Given the description of an element on the screen output the (x, y) to click on. 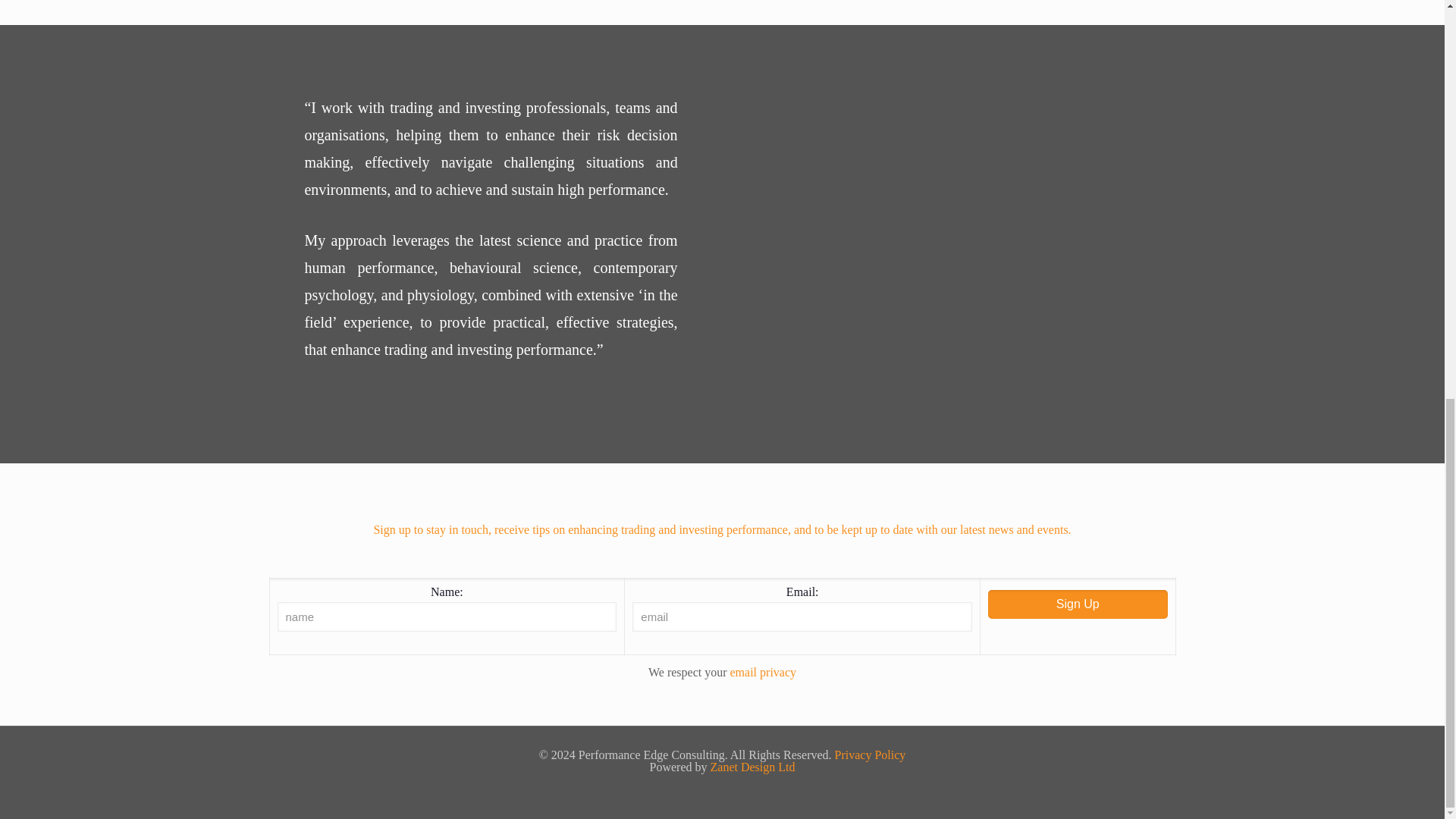
Sign Up (1077, 604)
Zanet Design Ltd (752, 766)
Privacy Policy (869, 754)
email privacy (763, 671)
Privacy Policy (763, 671)
Sign Up (1077, 604)
